Given the description of an element on the screen output the (x, y) to click on. 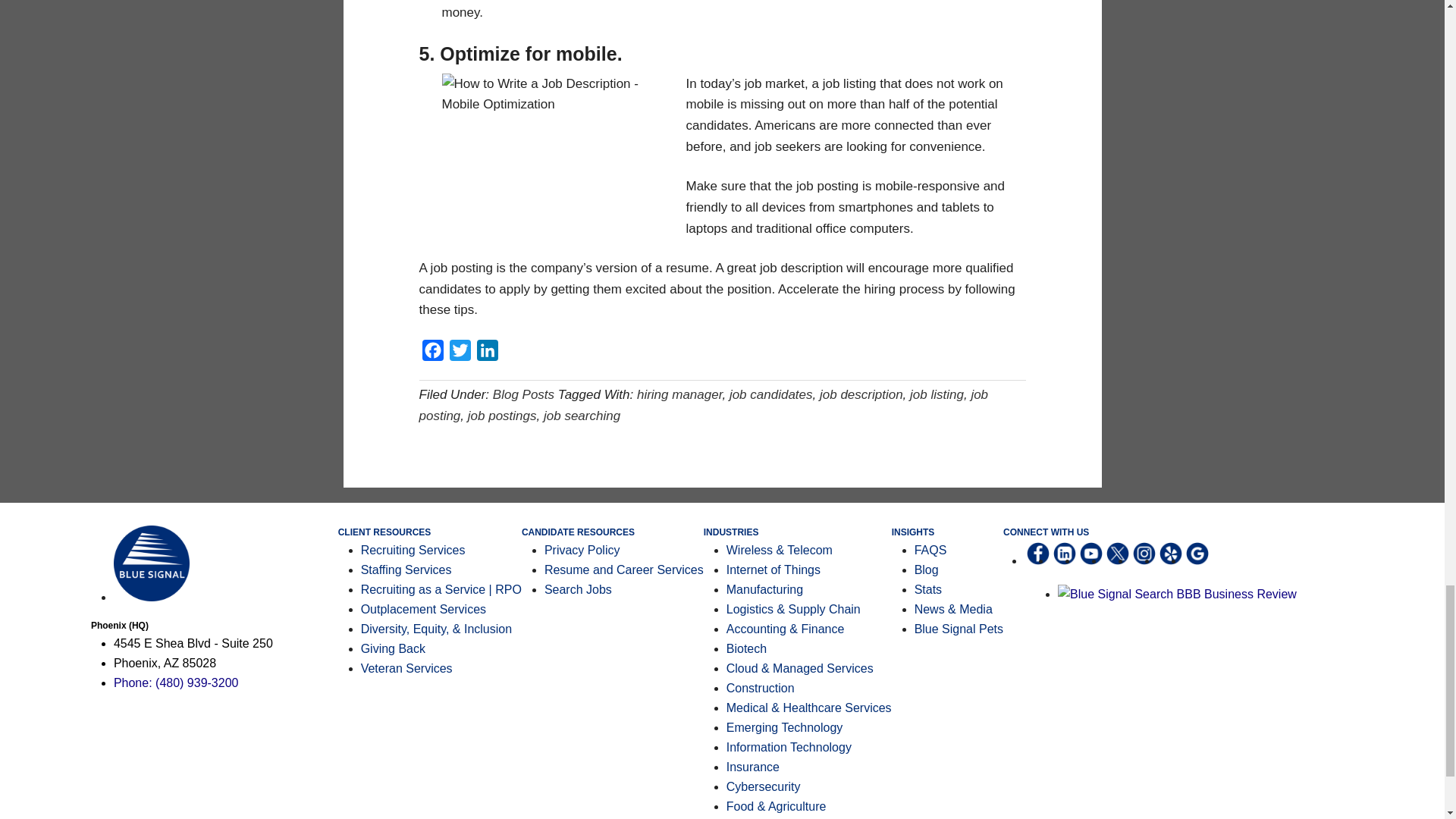
Twitter (459, 353)
Facebook (432, 353)
LinkedIn (486, 353)
